Given the description of an element on the screen output the (x, y) to click on. 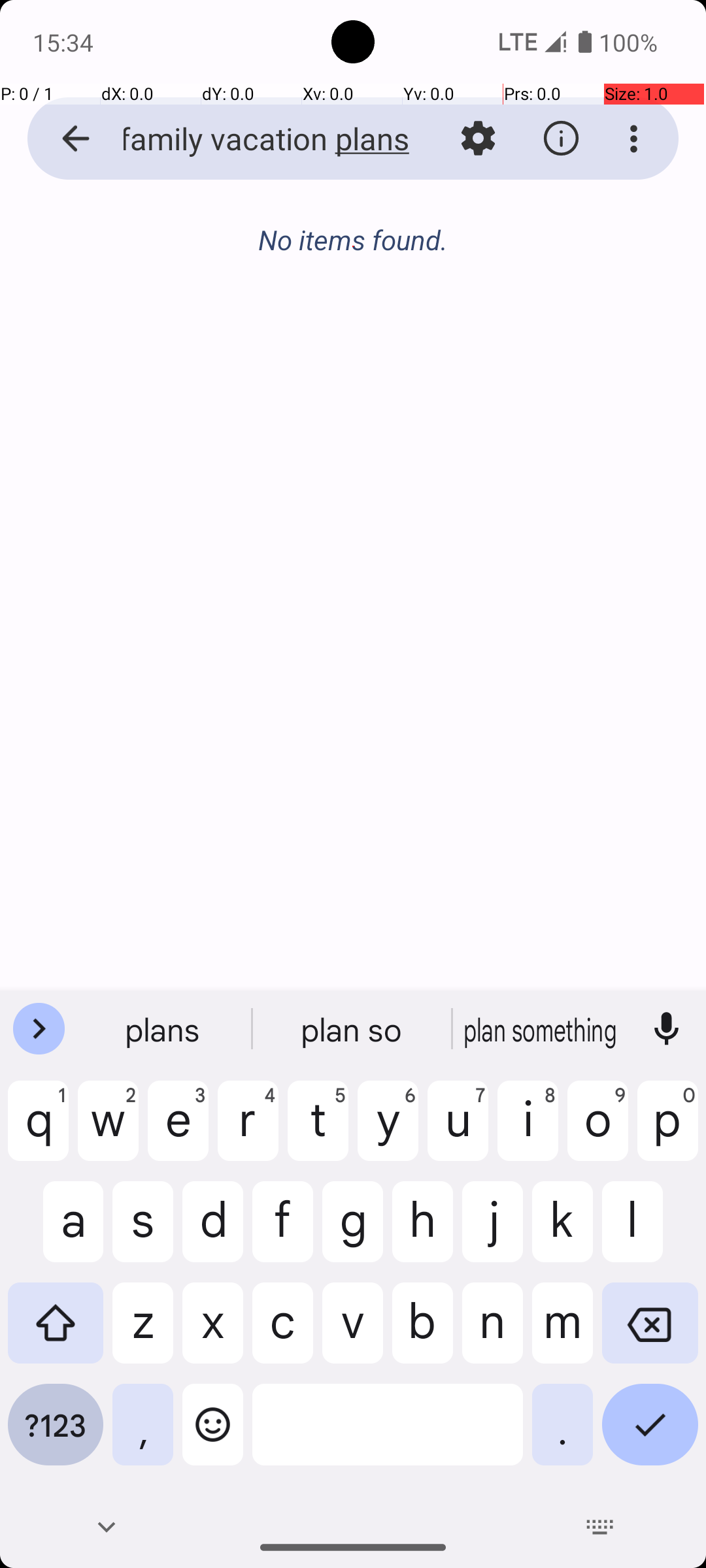
family vacation plans Element type: android.widget.EditText (252, 138)
plans Element type: android.widget.FrameLayout (163, 1028)
planned Element type: android.widget.FrameLayout (541, 1028)
